Given the description of an element on the screen output the (x, y) to click on. 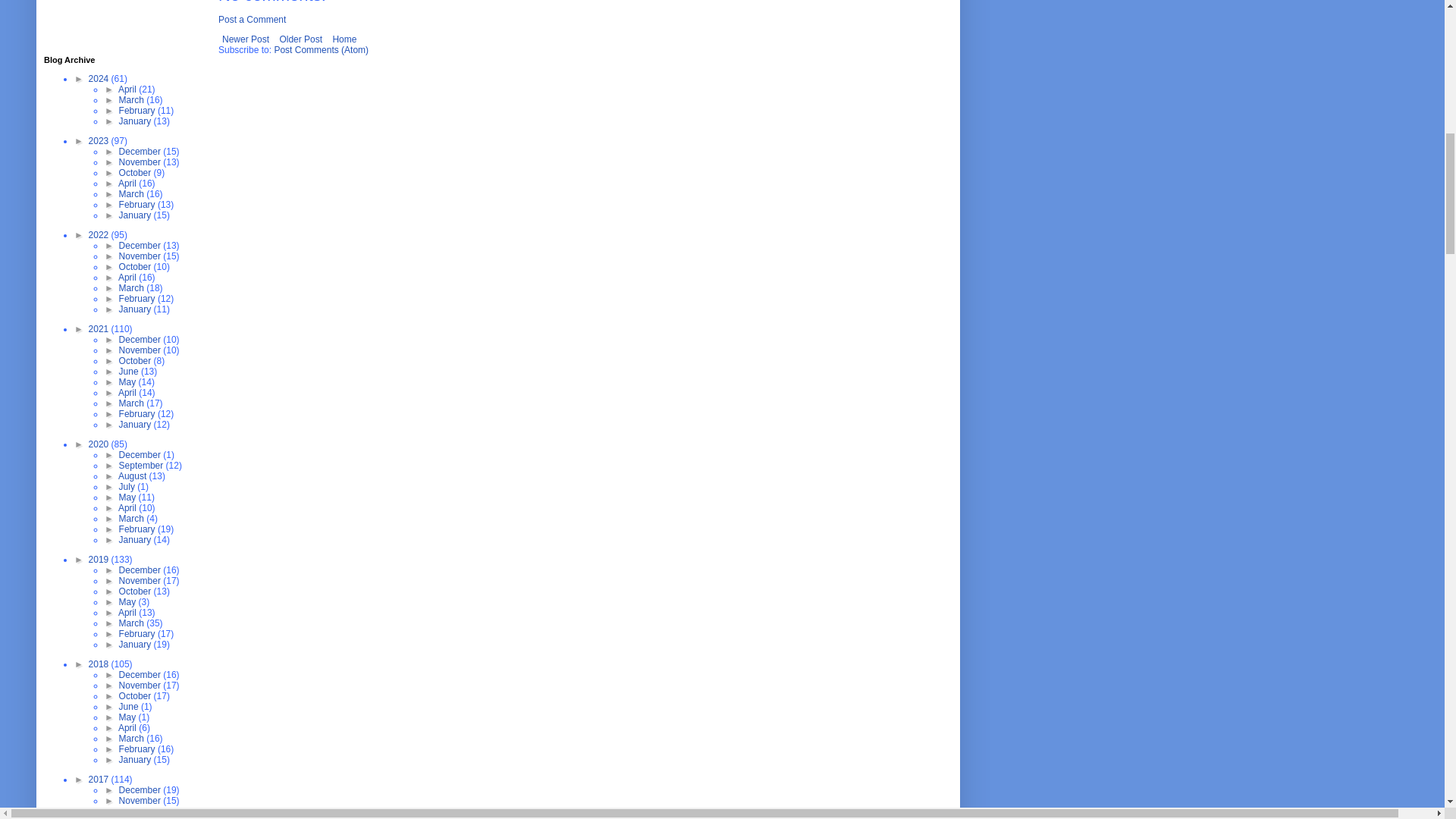
December (141, 151)
Older Post (300, 39)
February (138, 110)
January (136, 121)
2024 (100, 78)
Home (344, 39)
November (141, 162)
Newer Post (245, 39)
Newer Post (245, 39)
October (136, 172)
March (133, 100)
2023 (100, 140)
Older Post (300, 39)
April (127, 89)
Post a Comment (251, 19)
